Given the description of an element on the screen output the (x, y) to click on. 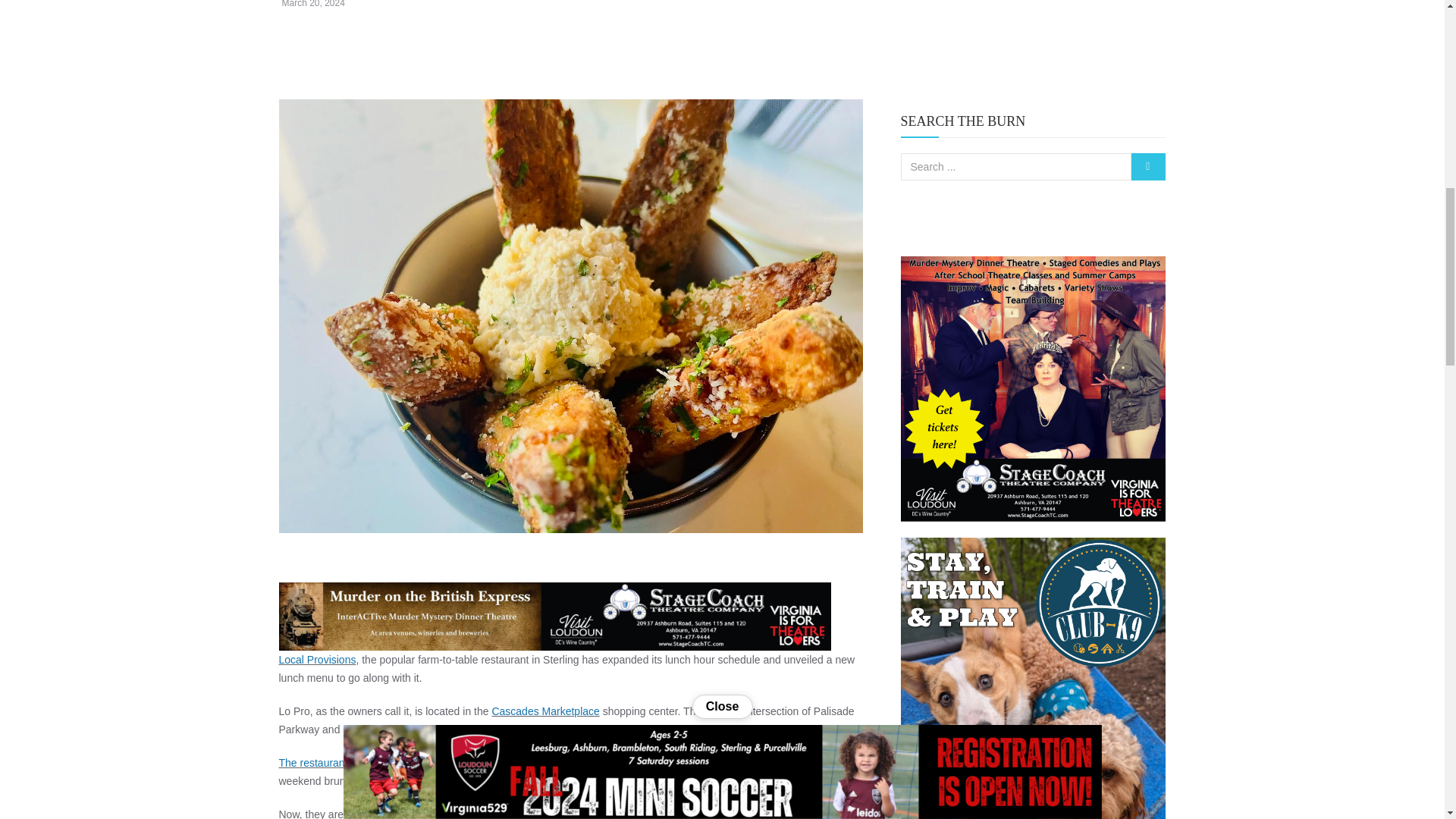
728 StageCoach Leaderboard (555, 616)
Cascades Marketplace (545, 711)
March 20, 2024 (313, 4)
The restaurant opened in early 2023 (364, 762)
300x300 Club K9 Play (1033, 678)
Local Provisions (317, 659)
300 StageCoach Color General (1033, 388)
